Given the description of an element on the screen output the (x, y) to click on. 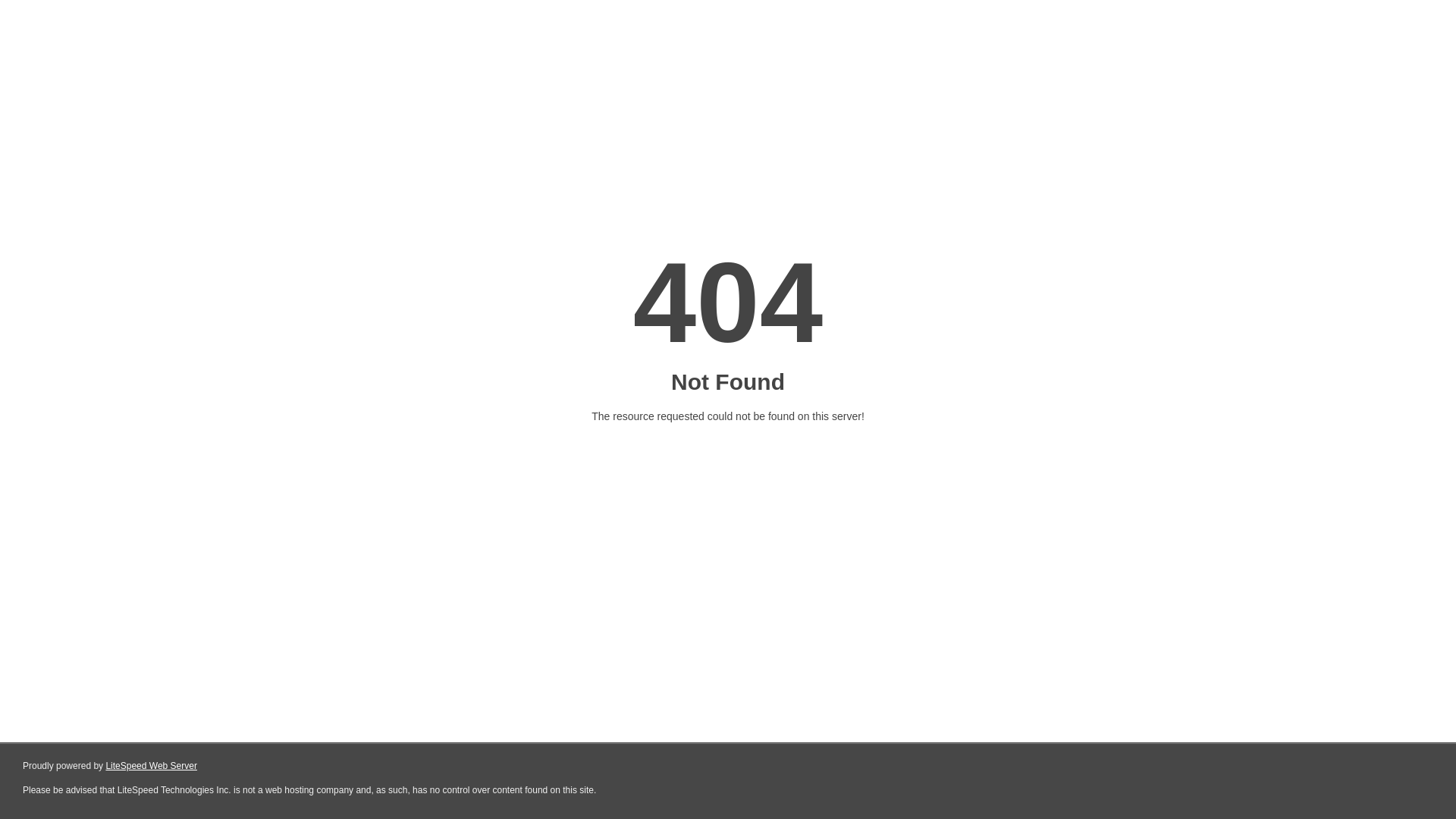
LiteSpeed Web Server Element type: text (151, 765)
